Given the description of an element on the screen output the (x, y) to click on. 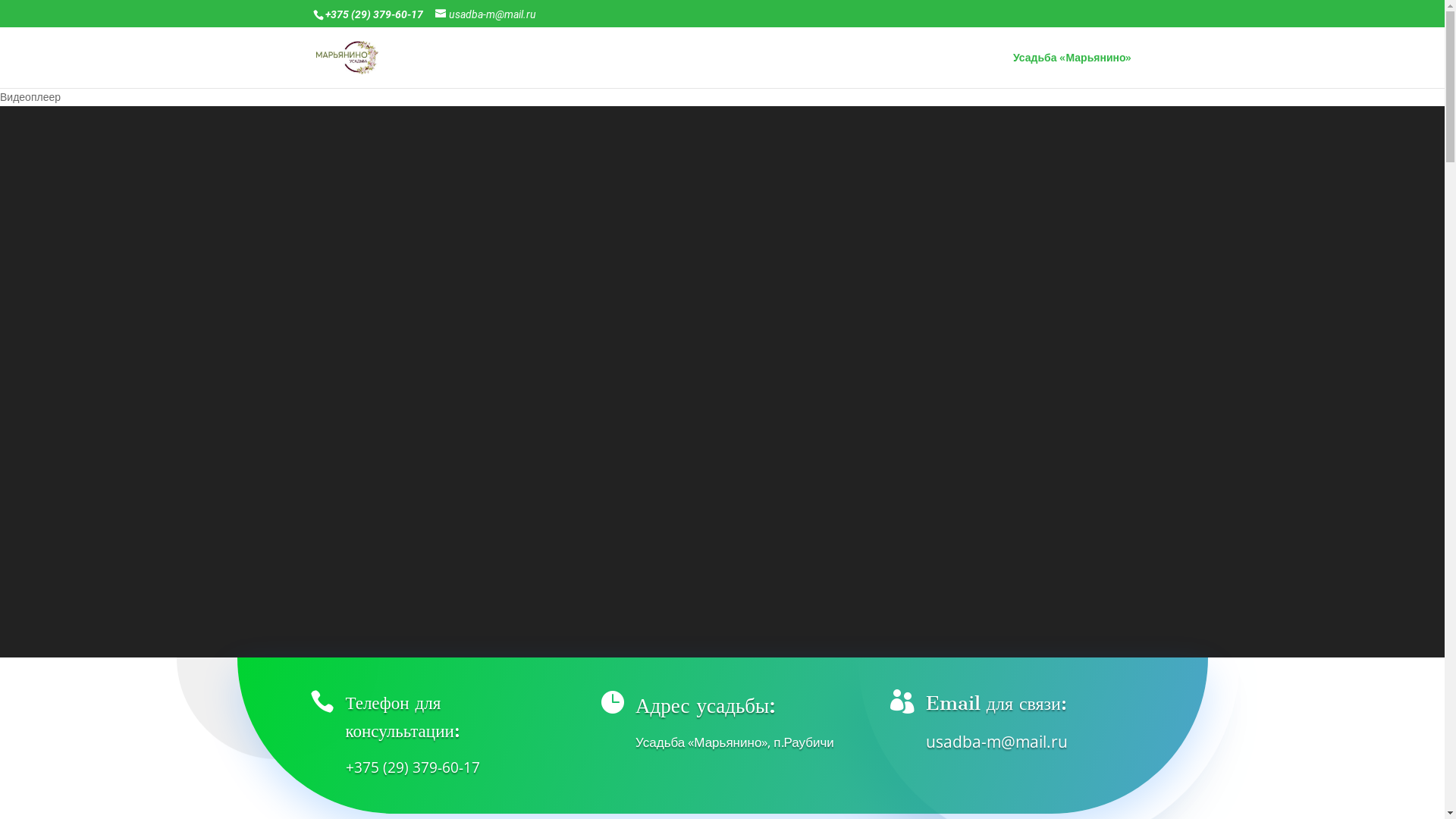
usadba-m@mail.ru Element type: text (485, 13)
